Given the description of an element on the screen output the (x, y) to click on. 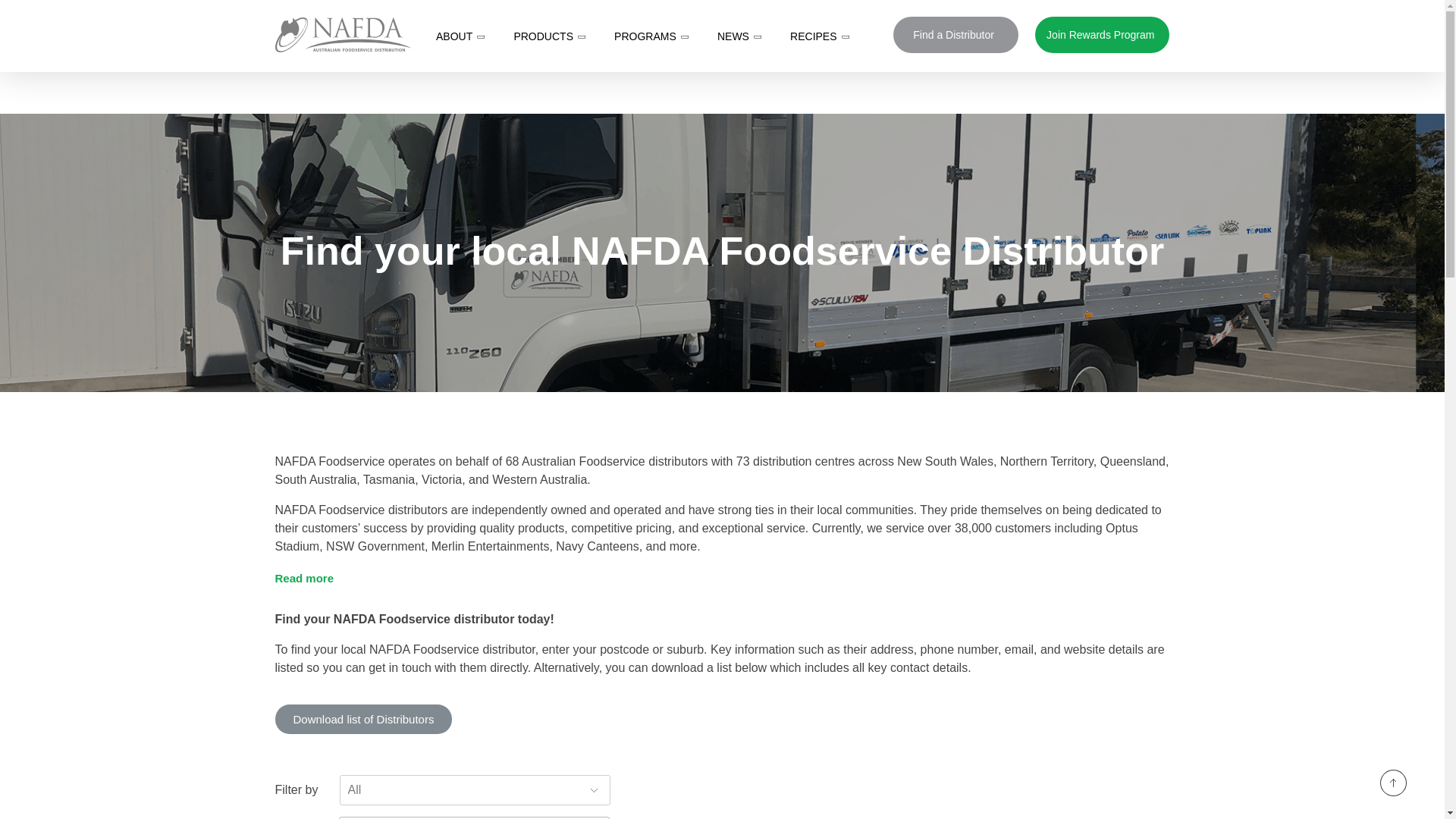
Download list of Distributors (363, 718)
Search (1152, 20)
Find a Distributor (955, 34)
PROGRAMS (658, 36)
ABOUT (466, 36)
NAFDA Foodservice (342, 34)
Member login (736, 20)
Search (1152, 20)
Join Rewards Program (1102, 34)
NAFDA Foodservice (357, 60)
Contact (1022, 20)
Best of the Best (942, 20)
PRODUCTS (556, 36)
Become a Member (837, 20)
Read more (304, 577)
